Given the description of an element on the screen output the (x, y) to click on. 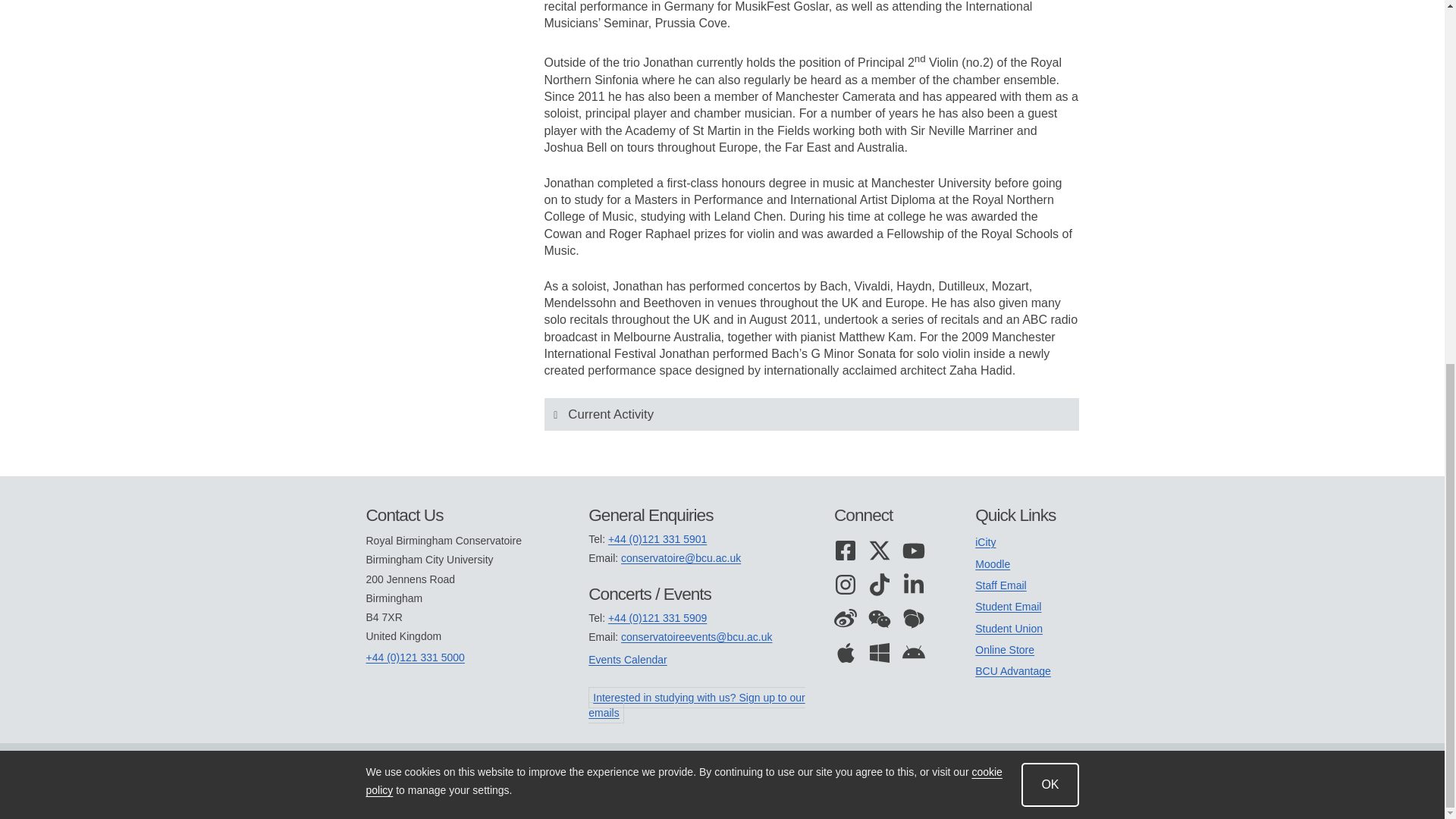
Events (699, 593)
Enquiries (699, 515)
cookie policy (683, 130)
OK (1050, 134)
Contact Us (476, 515)
Connect with us (889, 515)
Quick Links (1026, 515)
